Given the description of an element on the screen output the (x, y) to click on. 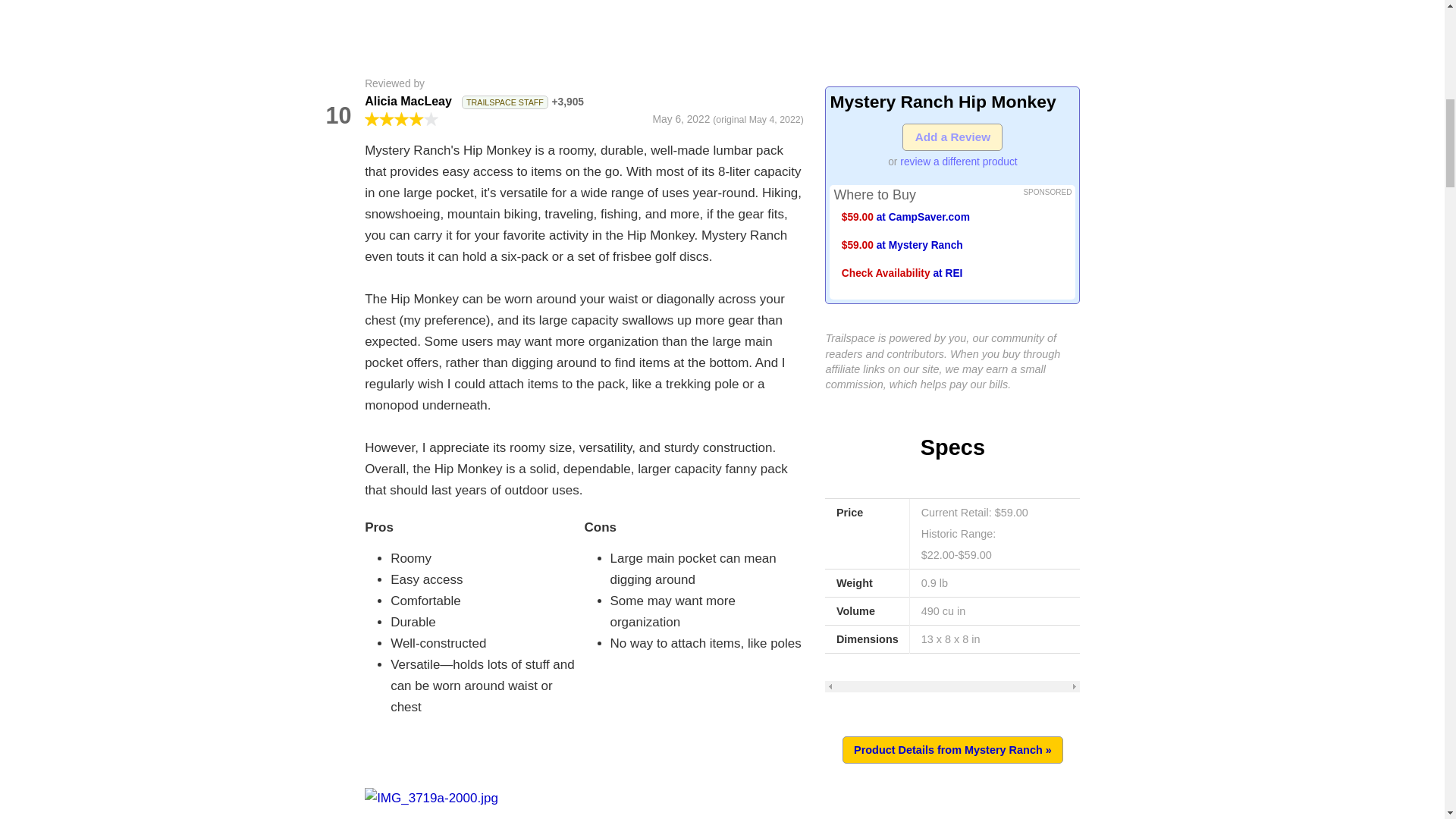
Vote down if this review is not useful (337, 138)
Alicia MacLeay is a paid Trailspace employee (504, 101)
Vote up if this review is useful (337, 91)
This review has received 10 votes (338, 115)
Reviewer Reputation (567, 101)
